Given the description of an element on the screen output the (x, y) to click on. 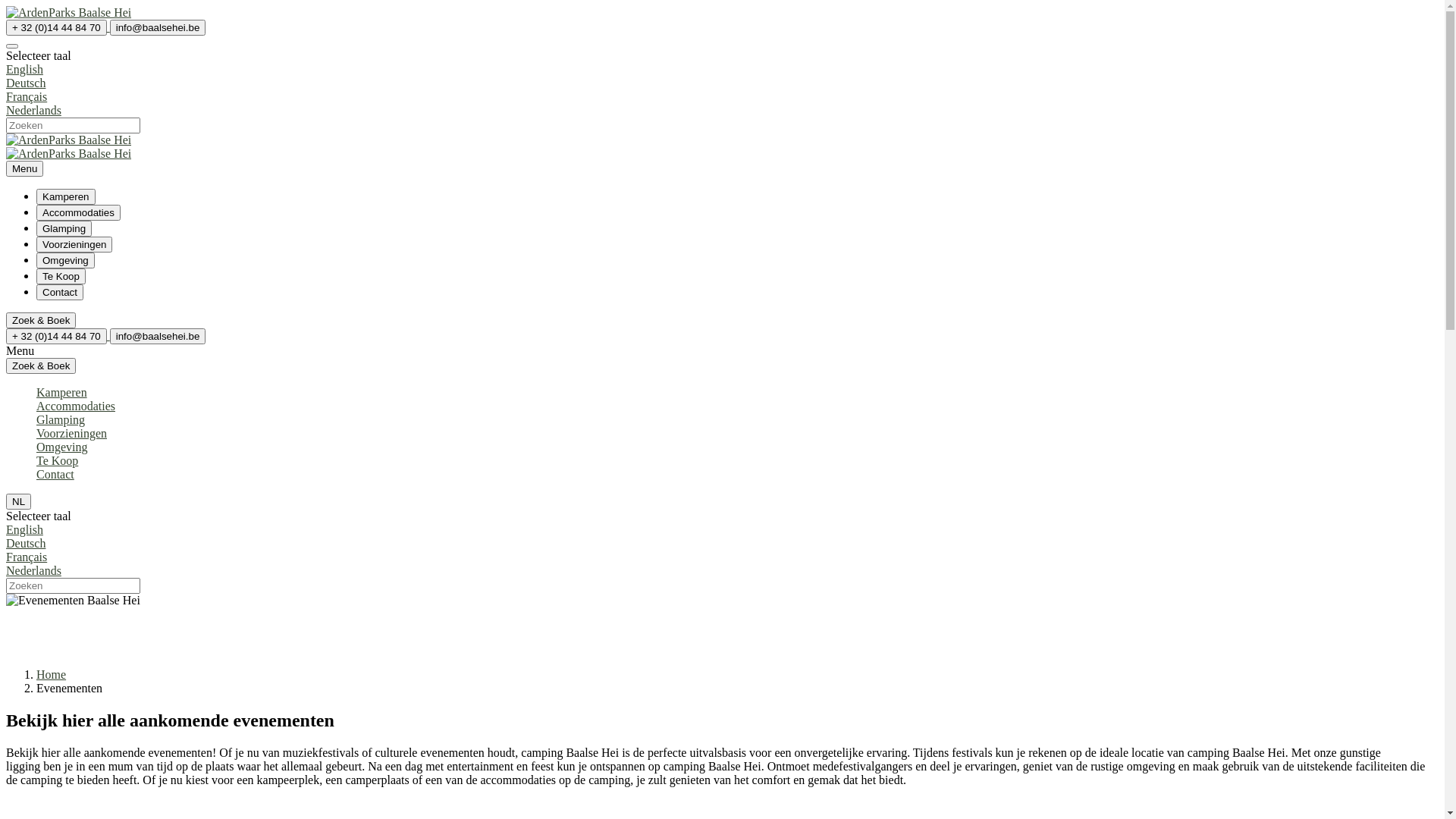
Contact Element type: text (59, 291)
English Element type: text (722, 529)
Home Element type: text (50, 674)
info@baalsehei.be Element type: text (157, 335)
info@baalsehei.be Element type: text (157, 27)
Zoek & Boek Element type: text (40, 365)
Kamperen Element type: text (61, 391)
Zoek & Boek Element type: text (40, 364)
Omgeving Element type: text (65, 259)
Glamping Element type: text (63, 227)
info@baalsehei.be Element type: text (157, 26)
Deutsch Element type: text (722, 549)
+ 32 (0)14 44 84 70 Element type: text (57, 335)
+ 32 (0)14 44 84 70 Element type: text (56, 27)
Glamping Element type: text (63, 228)
Accommodaties Element type: text (78, 211)
Deutsch Element type: text (722, 89)
+ 32 (0)14 44 84 70 Element type: text (56, 336)
Voorzieningen Element type: text (71, 432)
Nederlands Element type: text (722, 116)
NL Element type: text (18, 501)
Glamping Element type: text (60, 419)
Zoek & Boek Element type: text (40, 319)
info@baalsehei.be Element type: text (157, 336)
Selecteer taal Element type: hover (12, 45)
Menu Element type: text (24, 168)
Zoek & Boek Element type: text (40, 320)
Te Koop Element type: text (60, 275)
Kamperen Element type: text (65, 196)
Voorzieningen Element type: text (74, 244)
Contact Element type: text (55, 473)
Accommodaties Element type: text (78, 212)
Te Koop Element type: text (60, 276)
Kamperen Element type: text (65, 195)
Te Koop Element type: text (57, 460)
Omgeving Element type: text (65, 260)
+ 32 (0)14 44 84 70 Element type: text (57, 26)
Nederlands Element type: text (722, 577)
Accommodaties Element type: text (75, 405)
Voorzieningen Element type: text (74, 243)
Omgeving Element type: text (61, 446)
English Element type: text (722, 68)
Contact Element type: text (59, 292)
